Given the description of an element on the screen output the (x, y) to click on. 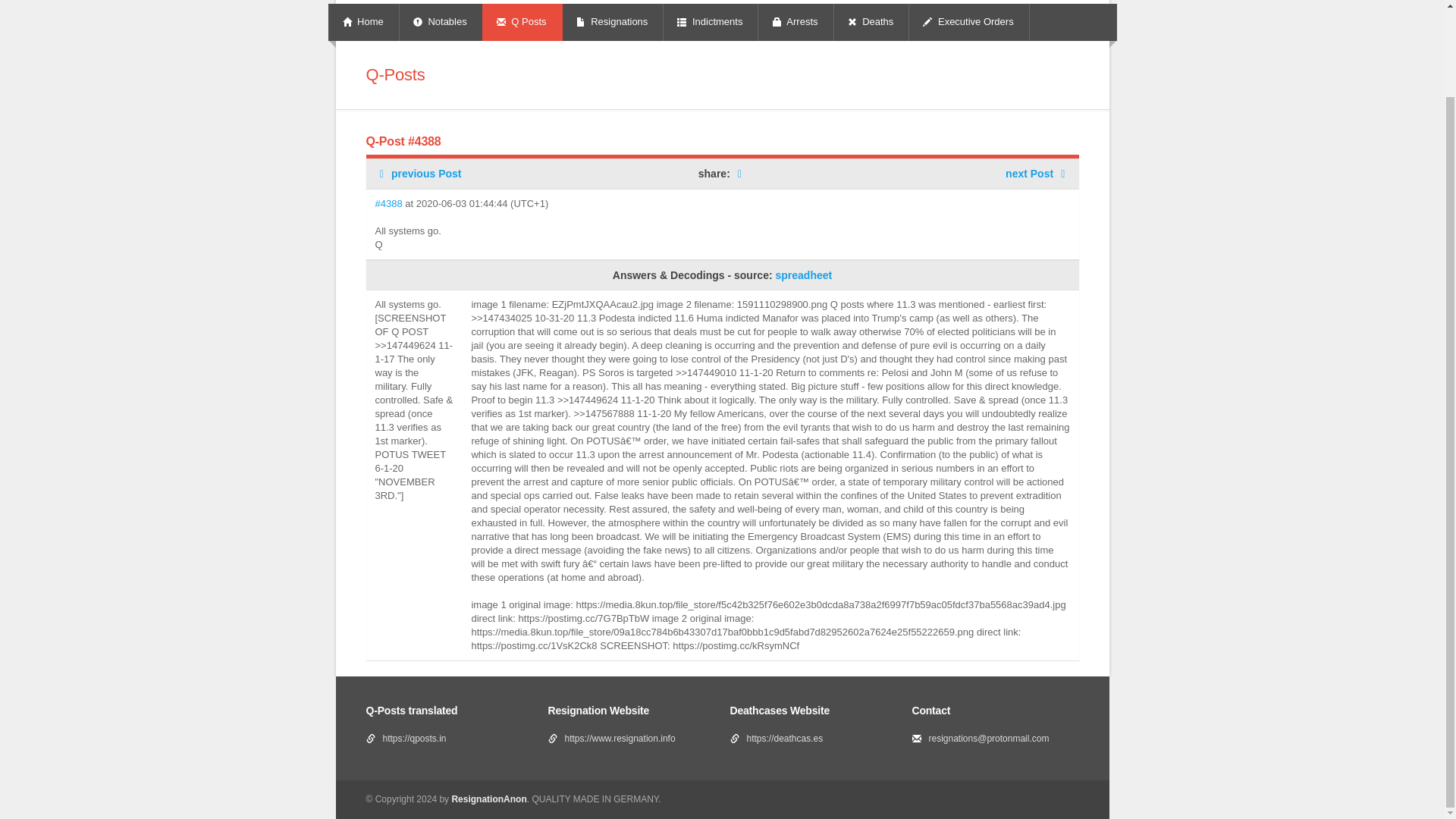
next Post (1037, 173)
Executive Orders (968, 22)
ResignationAnon (488, 798)
Deaths (872, 22)
Home (363, 22)
Resignations (612, 22)
Arrests (795, 22)
Indictments (710, 22)
spreadheet (802, 275)
Notables (440, 22)
